Given the description of an element on the screen output the (x, y) to click on. 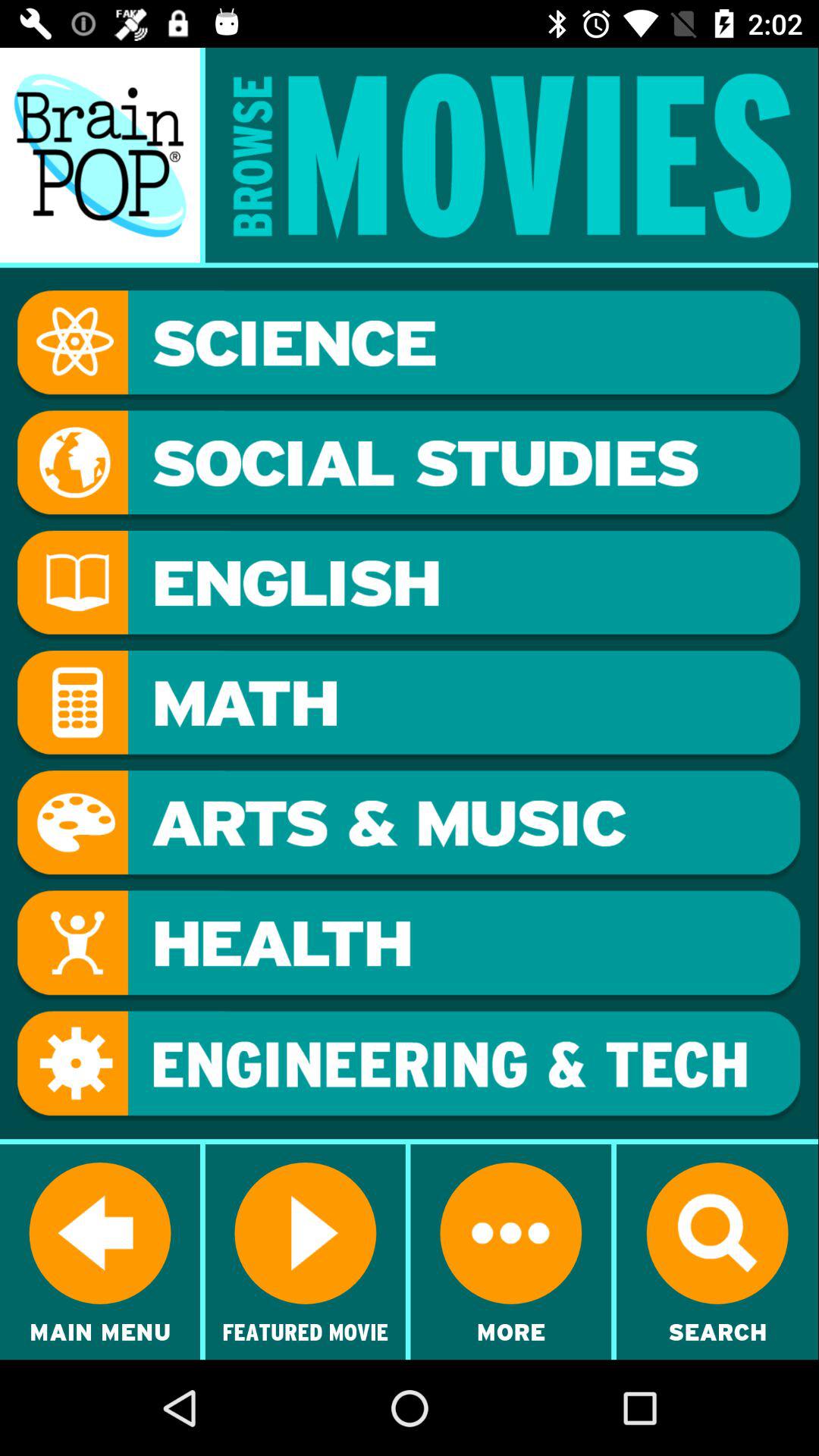
select this subject (408, 584)
